Given the description of an element on the screen output the (x, y) to click on. 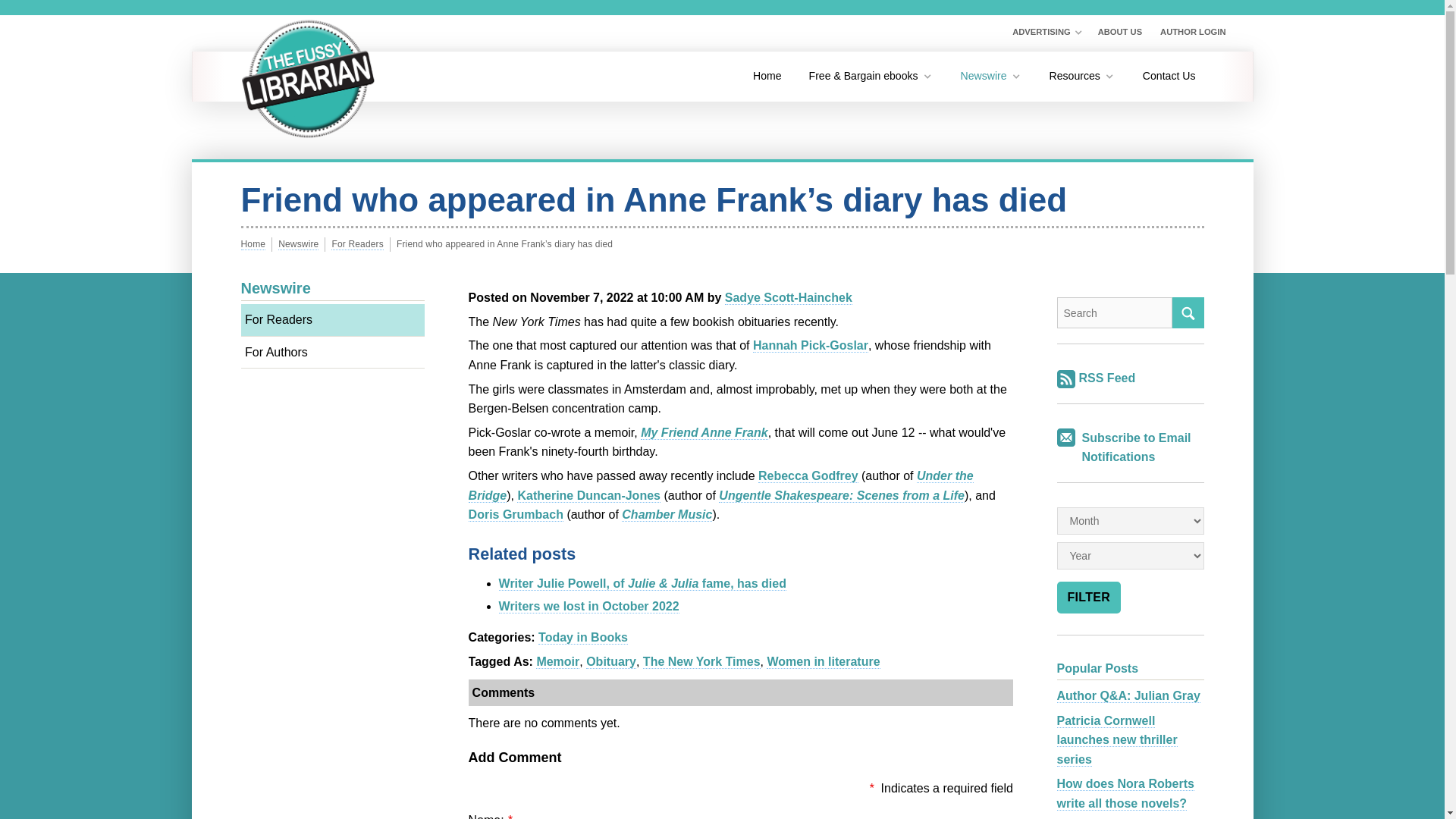
Resources (1081, 76)
Newswire (991, 76)
Home (767, 76)
AUTHOR LOGIN (1192, 32)
ABOUT US (1119, 32)
Contact Us (1169, 76)
ADVERTISING (1046, 32)
